Given the description of an element on the screen output the (x, y) to click on. 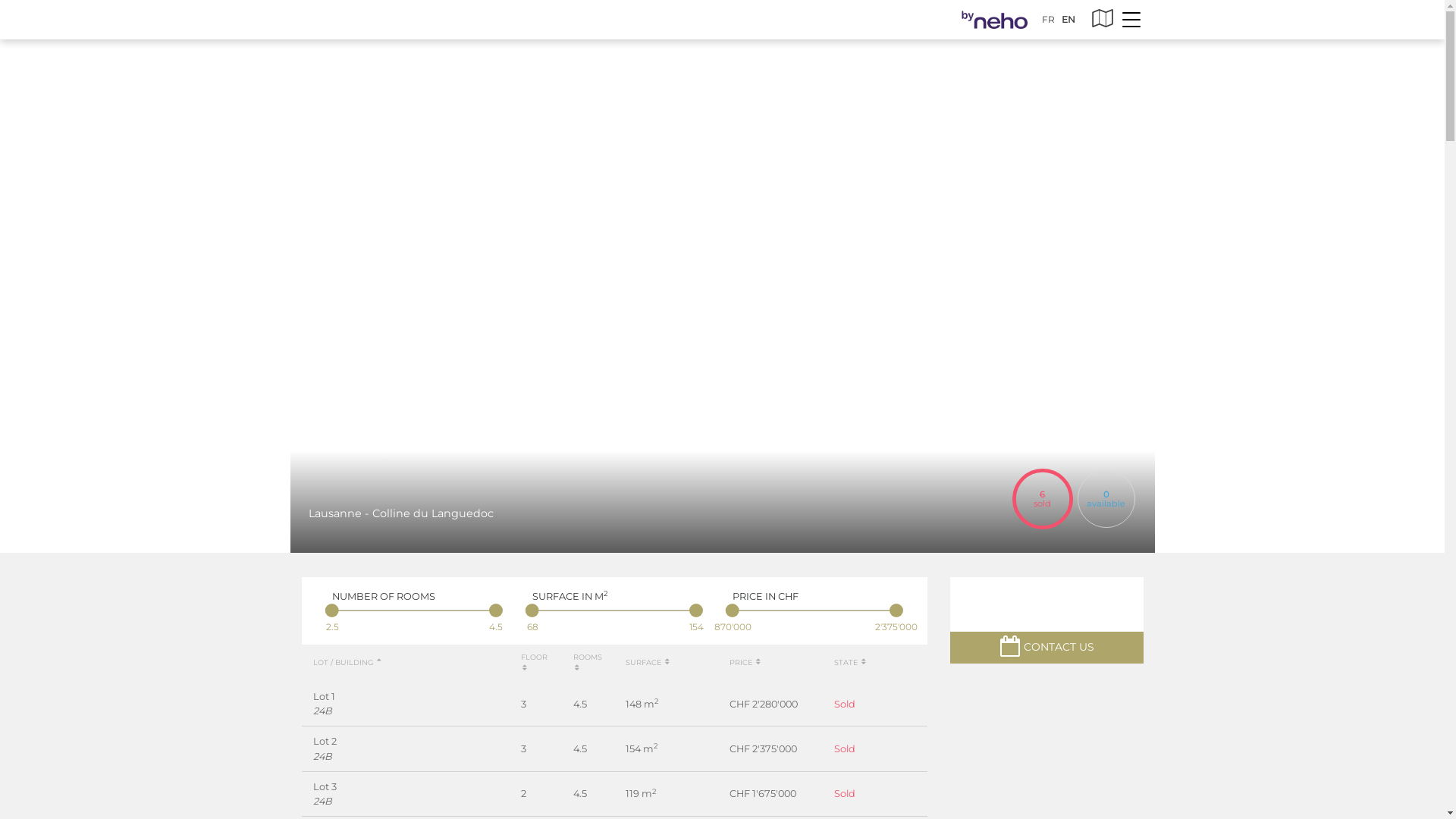
SURFACE Element type: text (648, 662)
CONTACT US Element type: text (1045, 647)
EN Element type: text (1068, 19)
FR Element type: text (1048, 19)
Lot 2
24B
3
4.5
154 m2
CHF 2'375'000
Sold Element type: text (614, 748)
LOT / BUILDING Element type: text (347, 662)
Lot 1
24B
3
4.5
148 m2
CHF 2'280'000
Sold Element type: text (614, 703)
Lot 3
24B
2
4.5
119 m2
CHF 1'675'000
Sold Element type: text (614, 793)
PRICE Element type: text (745, 662)
FLOOR Element type: text (533, 661)
STATE Element type: text (850, 662)
ROOMS Element type: text (587, 661)
